Given the description of an element on the screen output the (x, y) to click on. 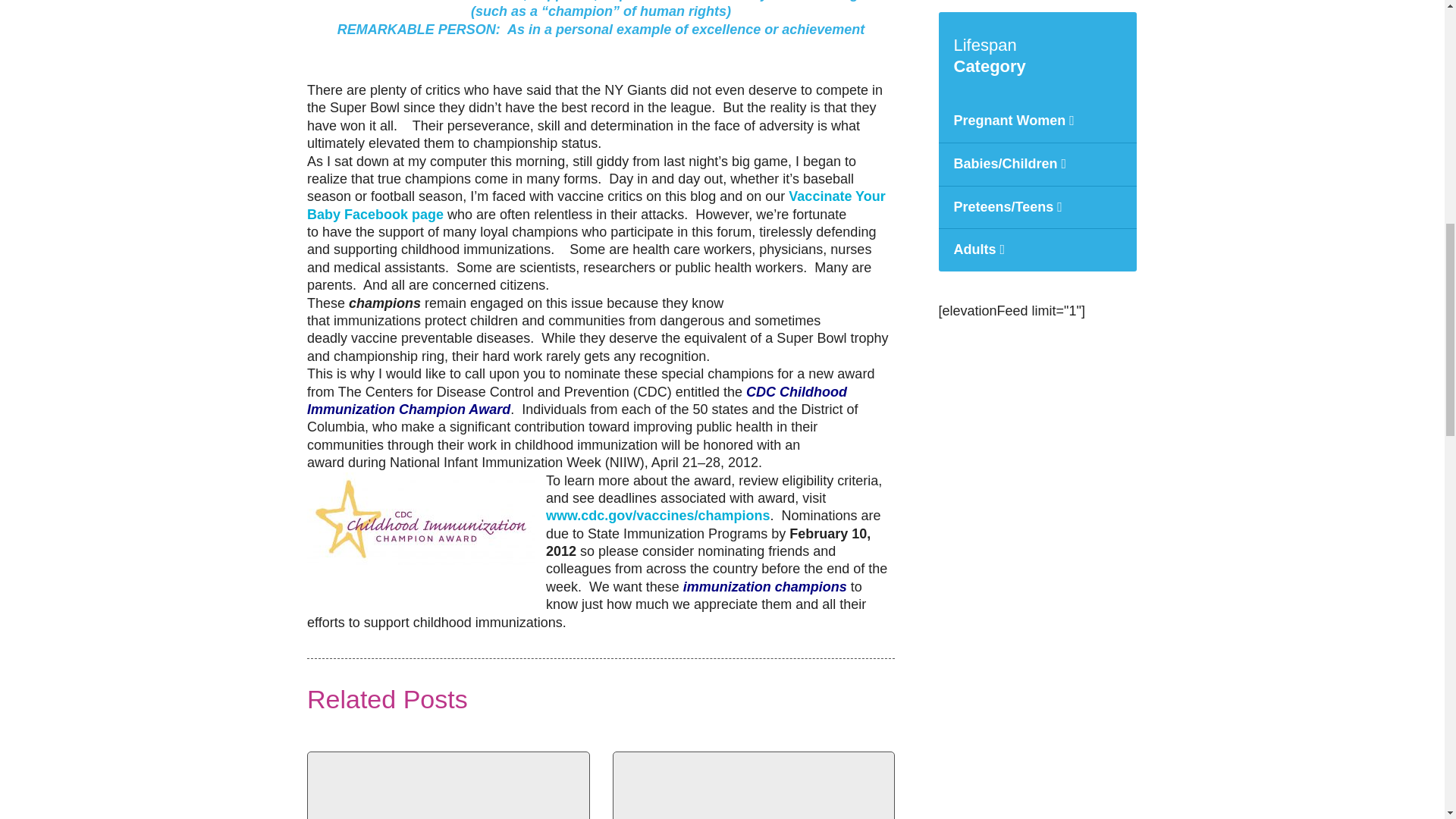
Vaccinate Your Baby Facebook (596, 205)
Adults (1038, 250)
Pregnant Women (1038, 121)
Vaccinate Your Baby Facebook page (596, 205)
CDCchamp-award (420, 518)
